Given the description of an element on the screen output the (x, y) to click on. 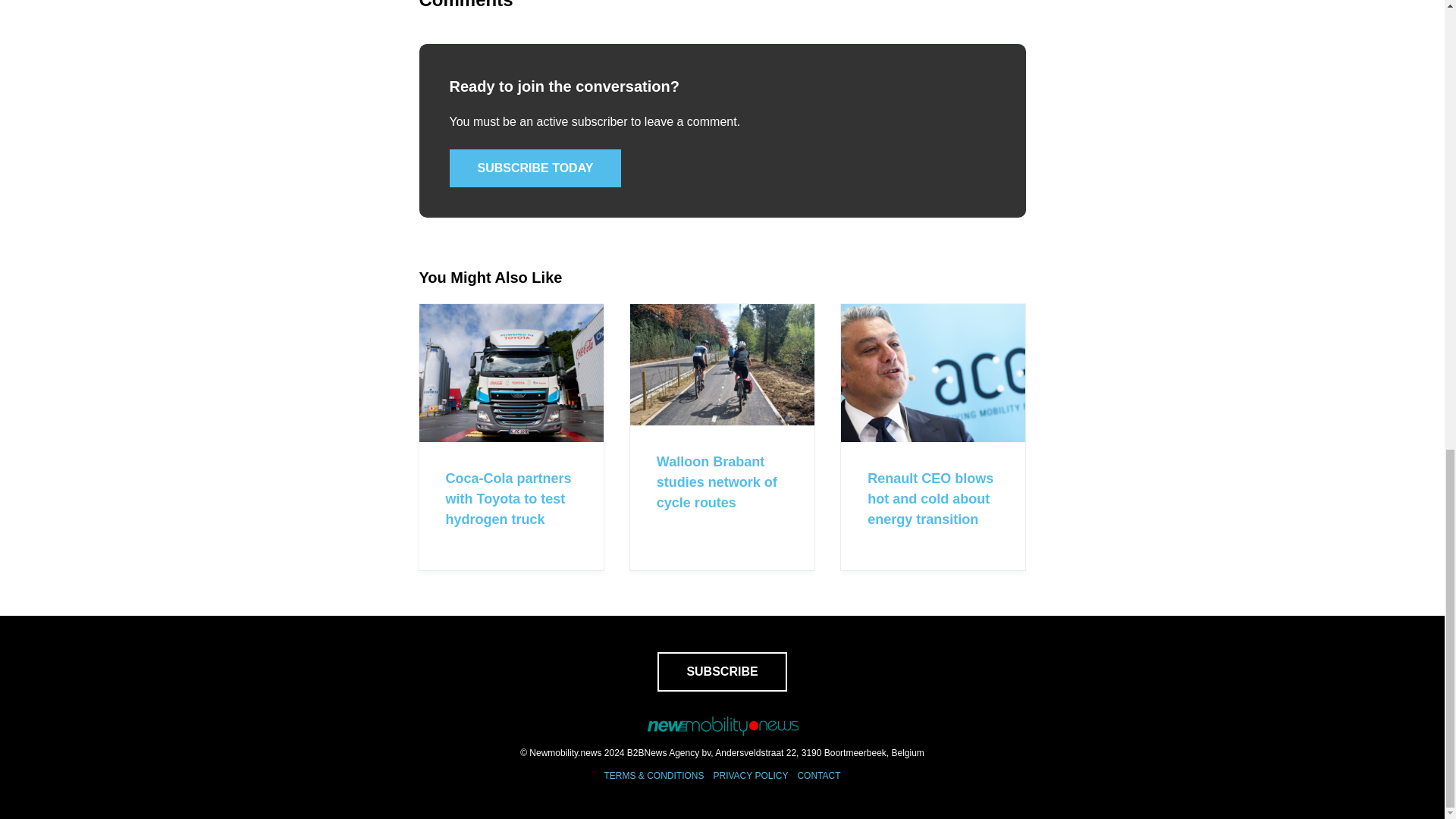
CONTACT (818, 775)
PRIVACY POLICY (750, 775)
Walloon Brabant studies network of cycle routes (716, 482)
SUBSCRIBE (722, 671)
Coca-Cola partners with Toyota to test hydrogen truck (508, 498)
SUBSCRIBE TODAY (534, 168)
Renault CEO blows hot and cold about energy transition (929, 498)
